Given the description of an element on the screen output the (x, y) to click on. 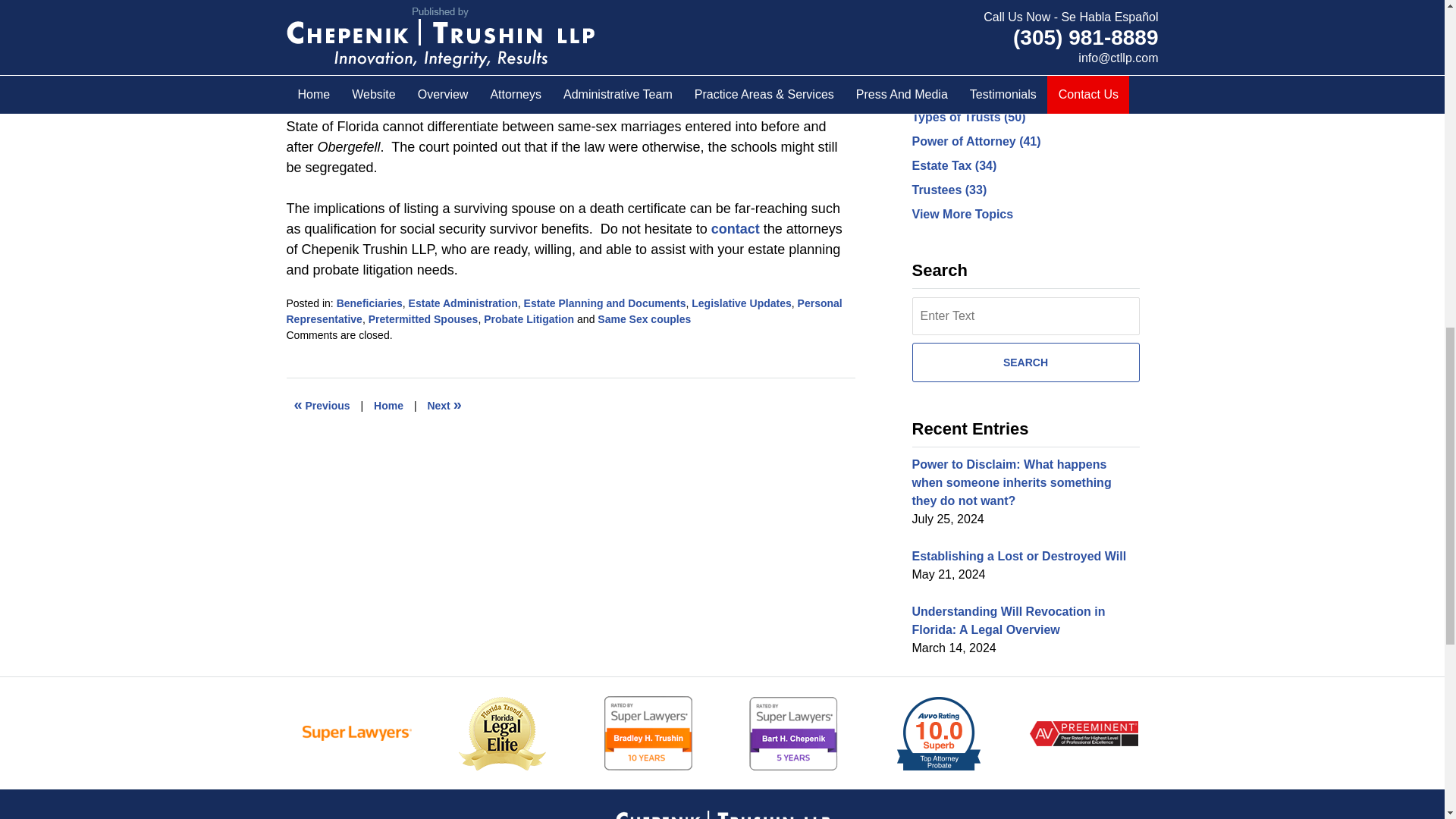
Homestead protection in Florida (322, 405)
View all posts in Pretermitted Spouses (423, 318)
View all posts in Same Sex couples (643, 318)
View all posts in Beneficiaries (369, 303)
Homestead sale profits in Florida, a recent court decision (443, 405)
View all posts in Estate Planning and Documents (604, 303)
View all posts in Personal Representative (564, 311)
View all posts in Estate Administration (463, 303)
View all posts in Legislative Updates (741, 303)
View all posts in Probate Litigation (528, 318)
